Given the description of an element on the screen output the (x, y) to click on. 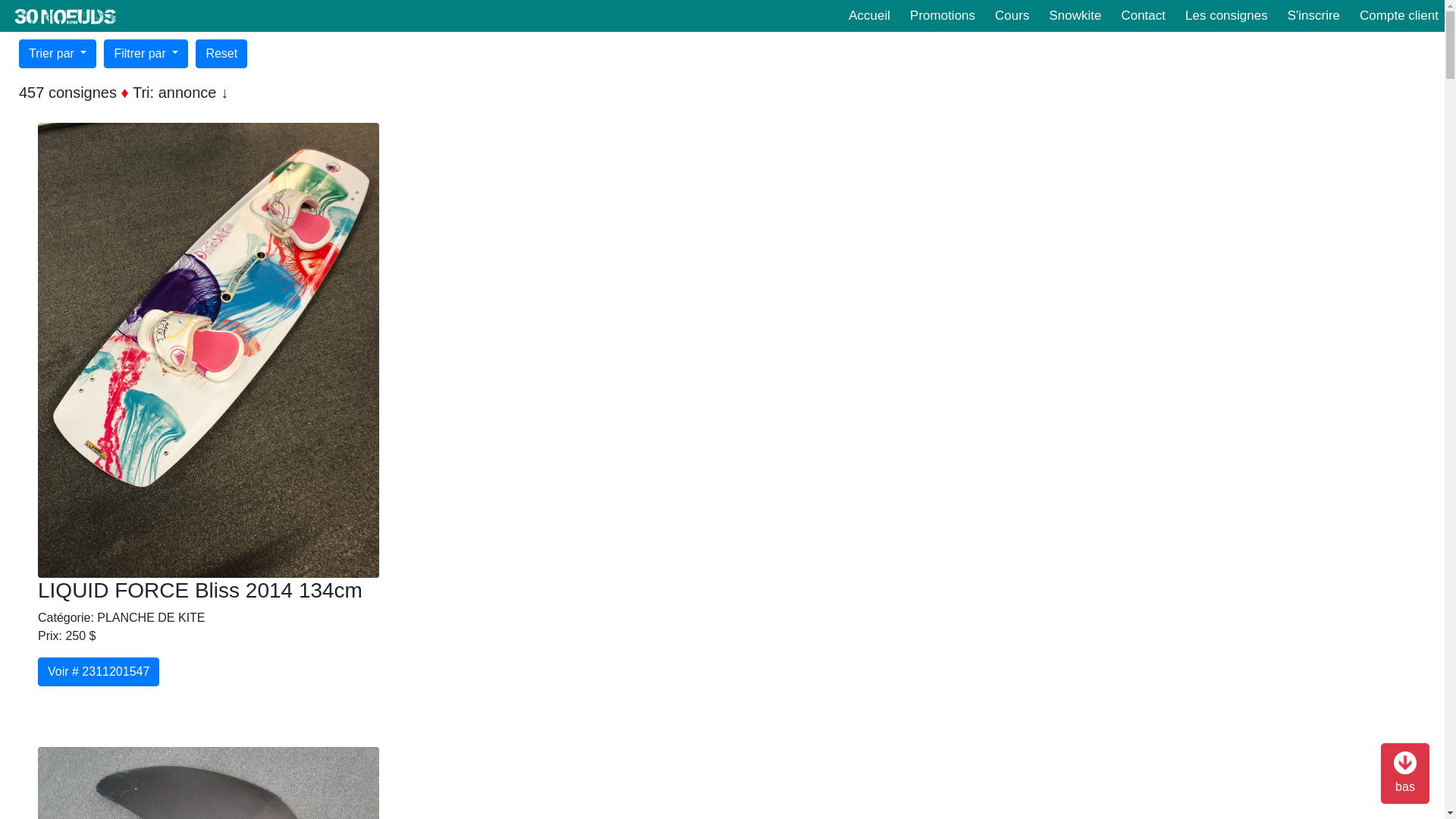
Trier par Element type: text (57, 53)
Cours Element type: text (1011, 15)
Accueil Element type: text (869, 15)
Les consignes Element type: text (1226, 15)
Filtrer par Element type: text (145, 53)
bas Element type: text (1404, 773)
Voir # 2311201547 Element type: text (98, 671)
Contact Element type: text (1142, 15)
Snowkite Element type: text (1074, 15)
Compte client Element type: text (1398, 15)
Reset Element type: text (221, 53)
S'inscrire Element type: text (1313, 15)
Promotions Element type: text (942, 15)
